Given the description of an element on the screen output the (x, y) to click on. 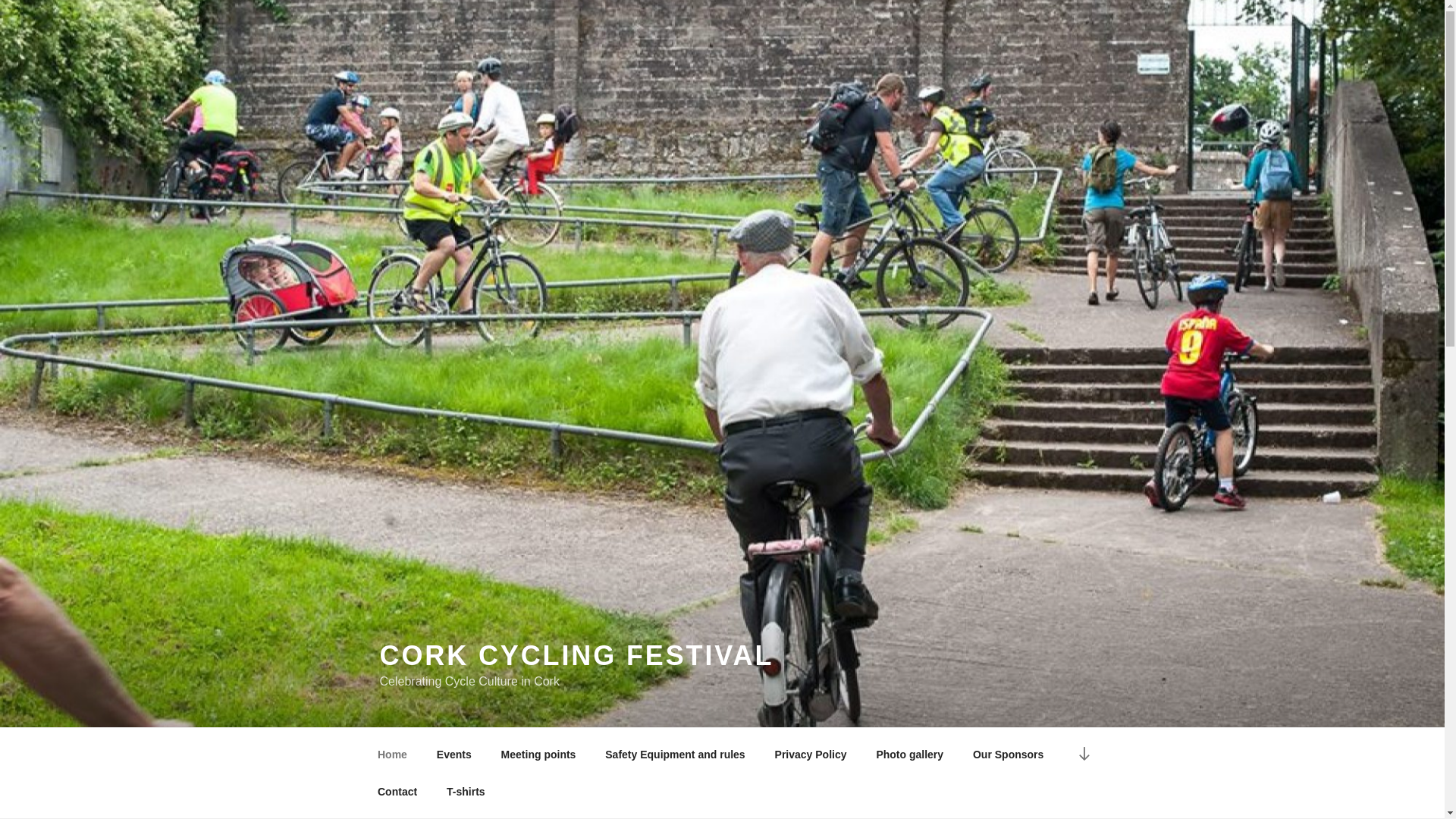
Events (453, 754)
T-shirts (466, 791)
Scroll down to content (1082, 754)
Home (392, 754)
CORK CYCLING FESTIVAL (575, 654)
Meeting points (538, 754)
Scroll down to content (1082, 754)
Safety Equipment and rules (675, 754)
Privacy Policy (810, 754)
Our Sponsors (1008, 754)
Photo gallery (909, 754)
Contact (396, 791)
